Given the description of an element on the screen output the (x, y) to click on. 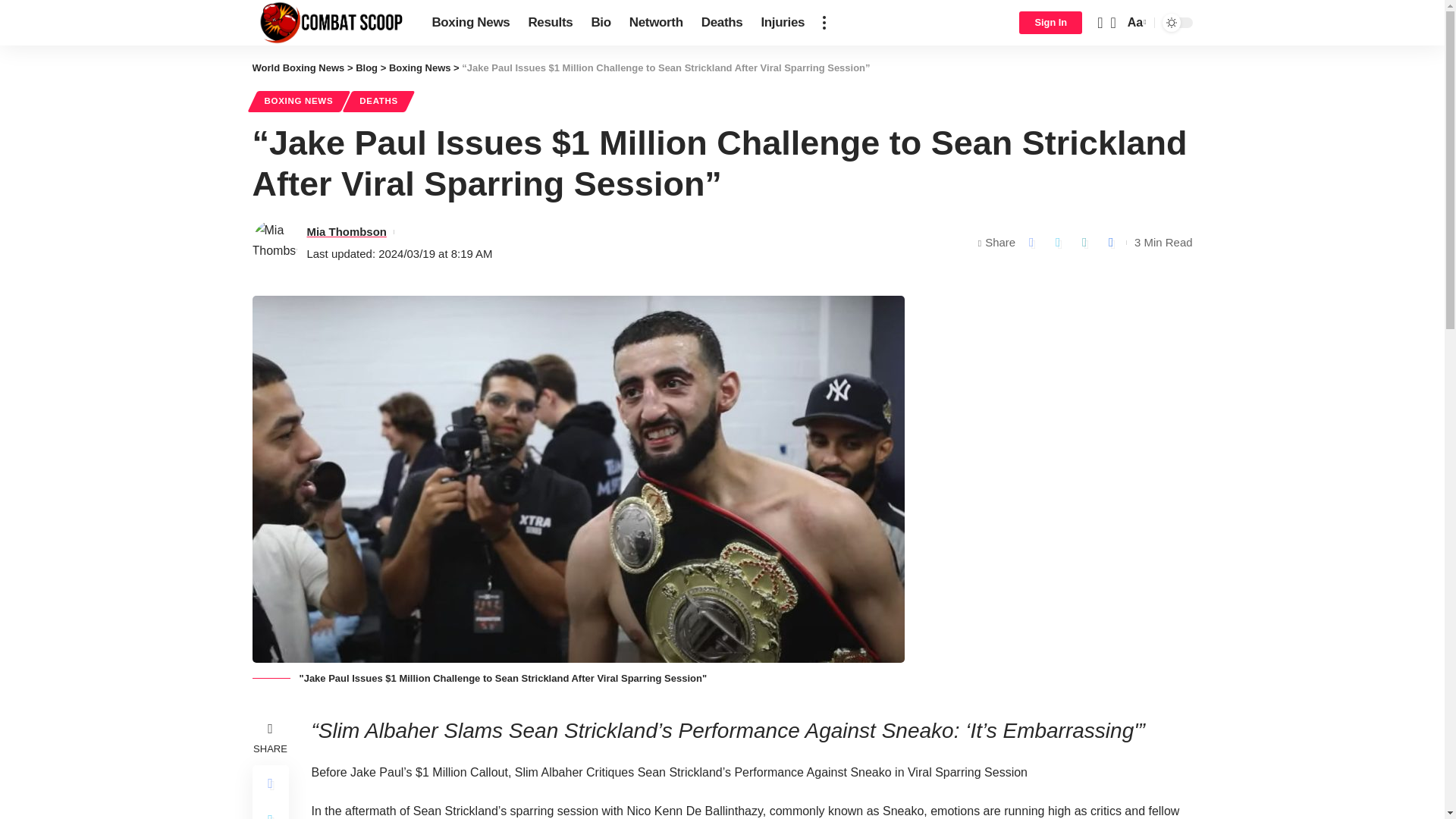
Networth (656, 22)
Deaths (722, 22)
Go to World Boxing News. (297, 67)
Go to the Boxing News Category archives. (419, 67)
Results (549, 22)
World Boxing News (329, 22)
Go to Blog. (366, 67)
Aa (1135, 22)
Sign In (1050, 22)
Boxing News (470, 22)
Injuries (782, 22)
